Given the description of an element on the screen output the (x, y) to click on. 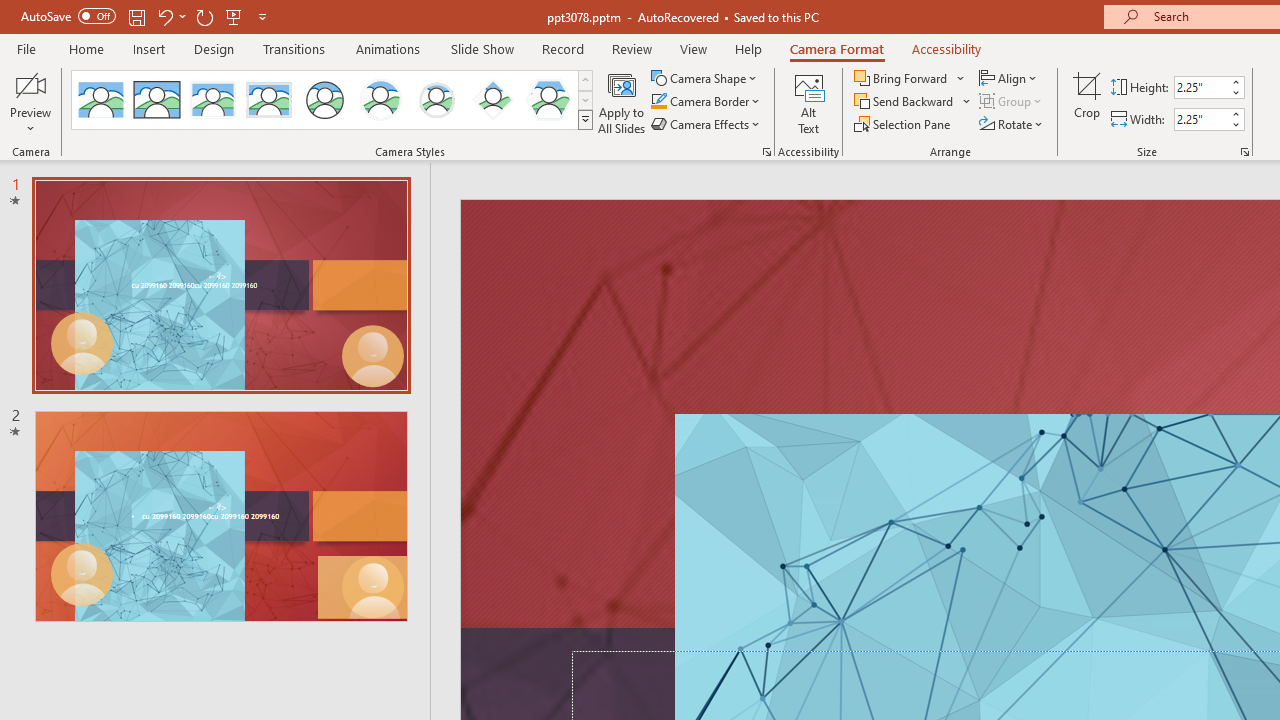
Center Shadow Circle (381, 100)
Cameo Width (1201, 119)
Group (1012, 101)
Camera Shape (705, 78)
Selection Pane... (904, 124)
Send Backward (913, 101)
Camera Border (706, 101)
